Given the description of an element on the screen output the (x, y) to click on. 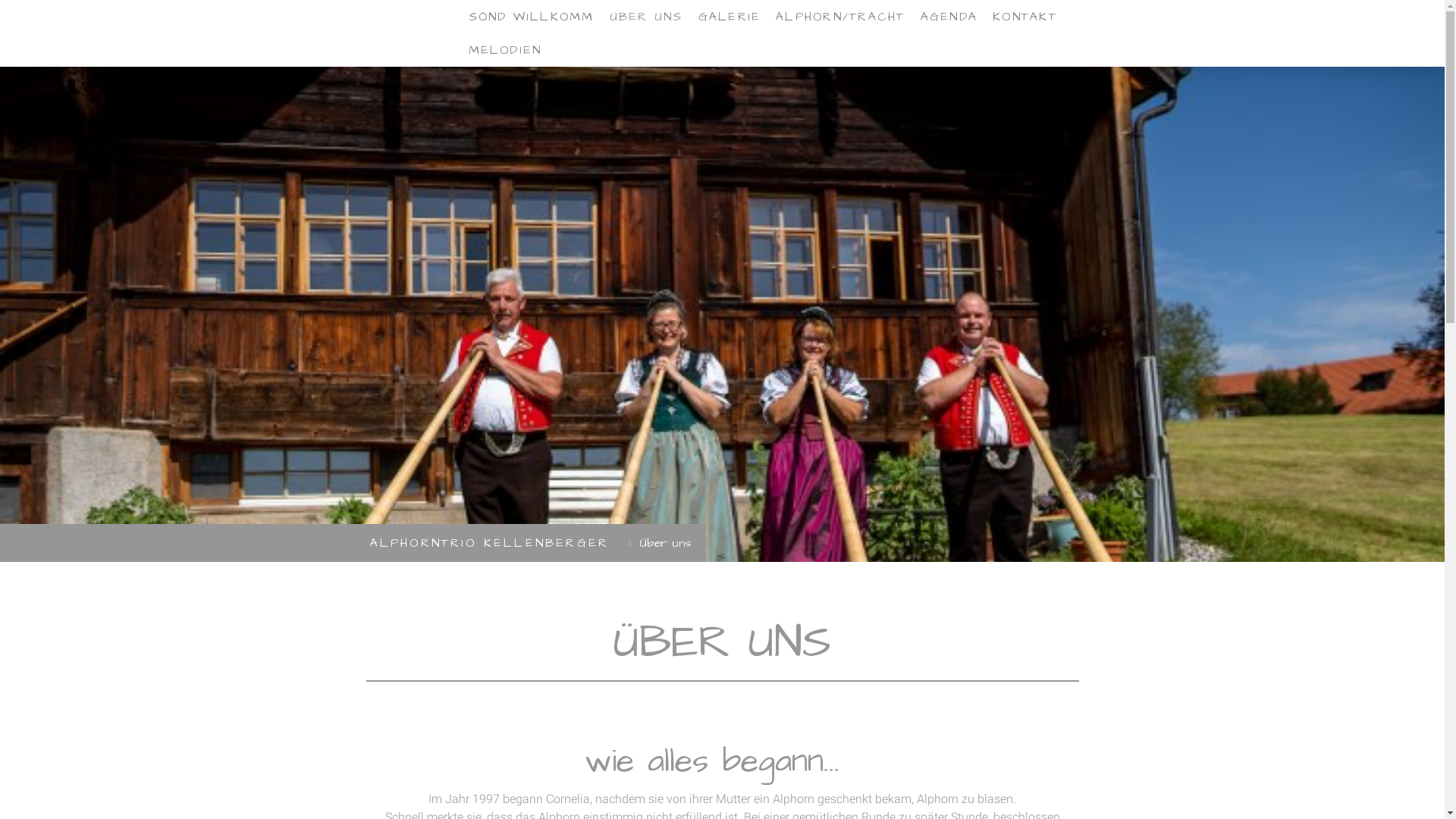
AGENDA Element type: text (949, 16)
MELODIEN Element type: text (505, 49)
ALPHORN/TRACHT Element type: text (840, 16)
GALERIE Element type: text (729, 16)
KONTAKT Element type: text (1024, 16)
ALPHORNTRIO KELLENBERGER Element type: text (489, 542)
